Given the description of an element on the screen output the (x, y) to click on. 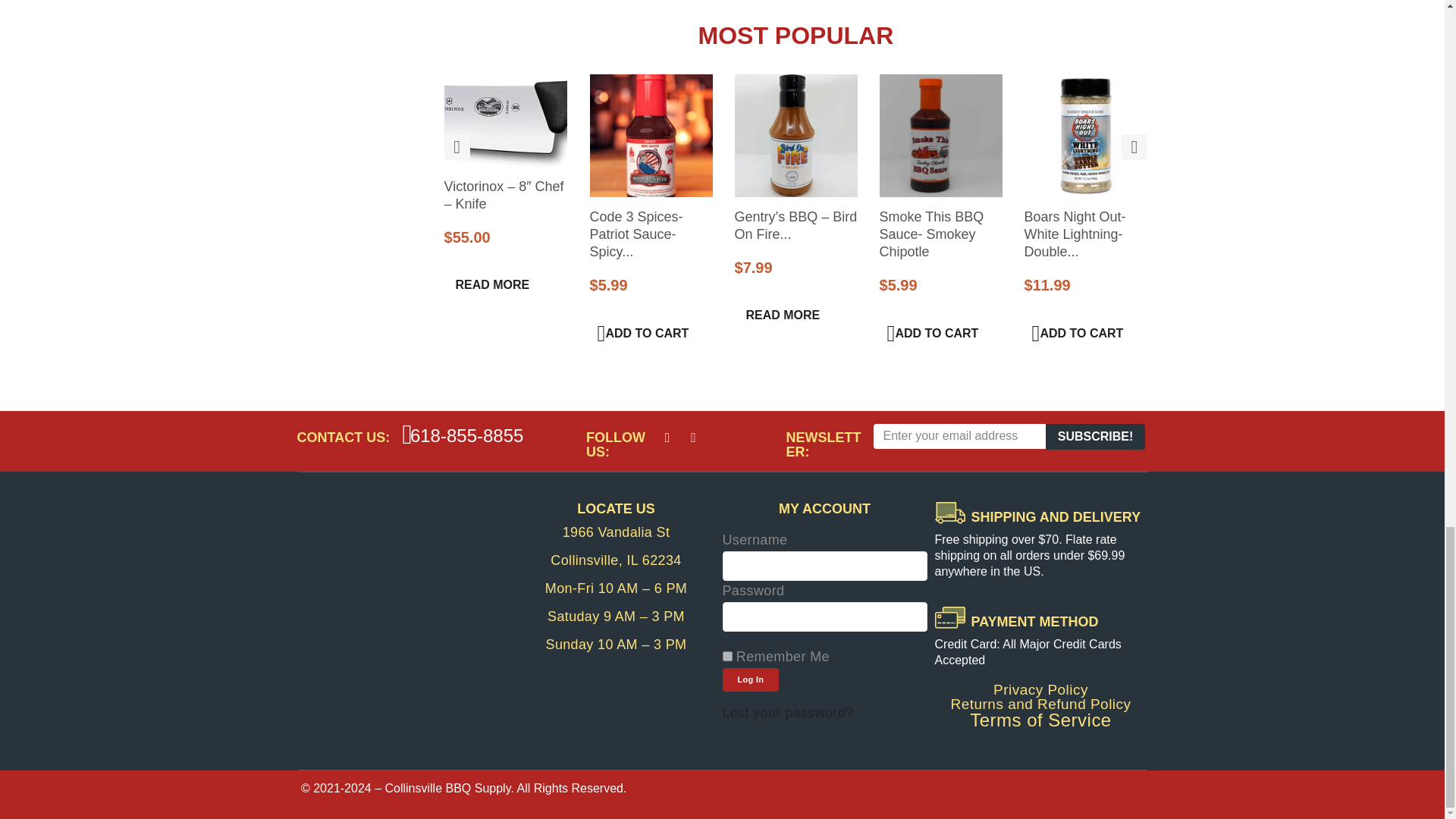
forever (727, 655)
Log In (750, 679)
collinsville bbq supply (403, 615)
